Given the description of an element on the screen output the (x, y) to click on. 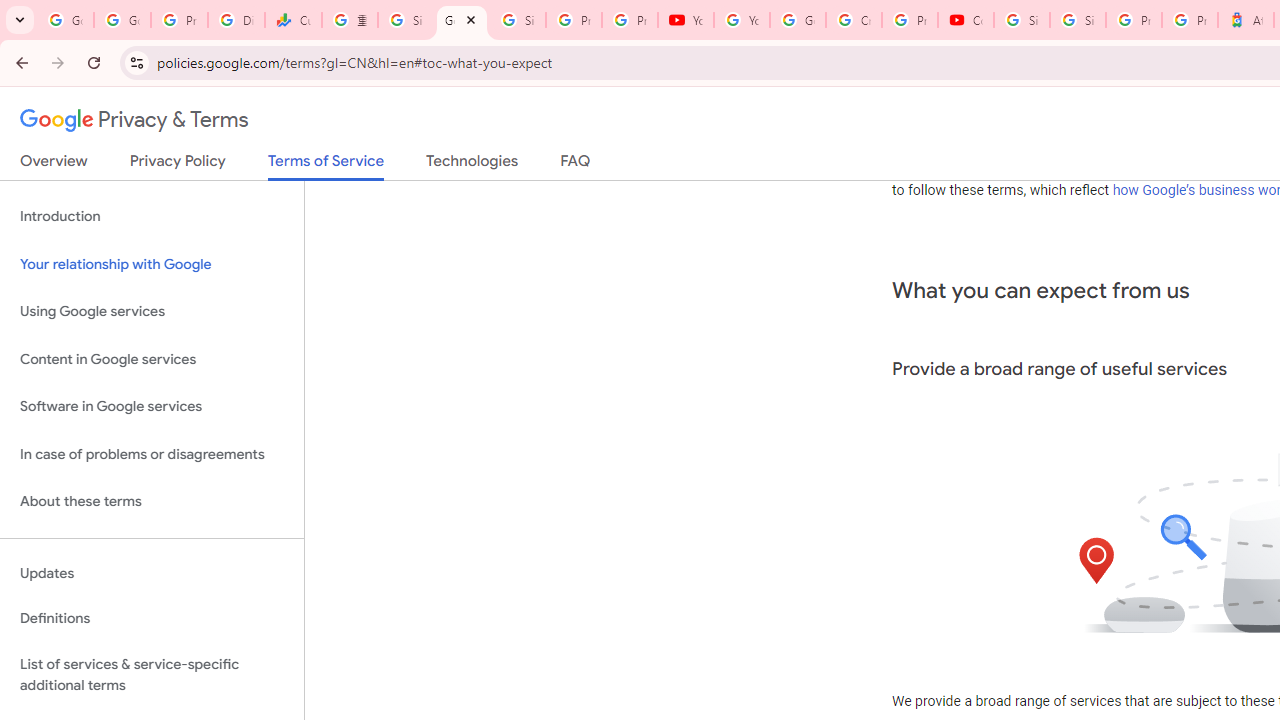
Using Google services (152, 312)
